Given the description of an element on the screen output the (x, y) to click on. 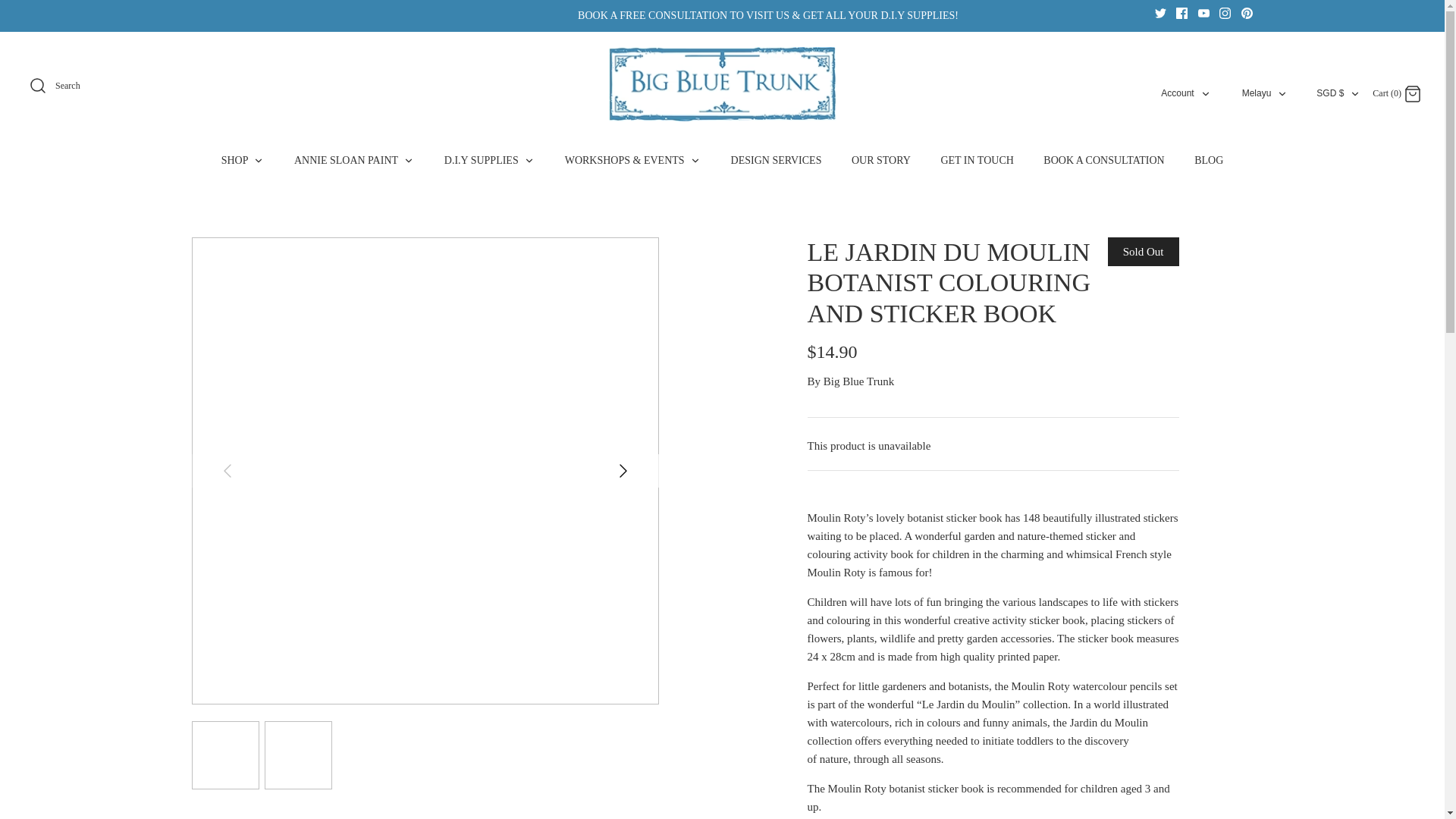
Toggle menu (695, 160)
Down (1354, 93)
PINTEREST (1176, 93)
FACEBOOK (1246, 12)
YOUTUBE (1182, 12)
Down (1203, 12)
Big Blue Trunk (1281, 93)
Toggle menu (721, 83)
RIGHT (529, 160)
LEFT (622, 470)
SHOP Toggle menu (227, 470)
Cart (243, 159)
INSTAGRAM (1412, 94)
